Given the description of an element on the screen output the (x, y) to click on. 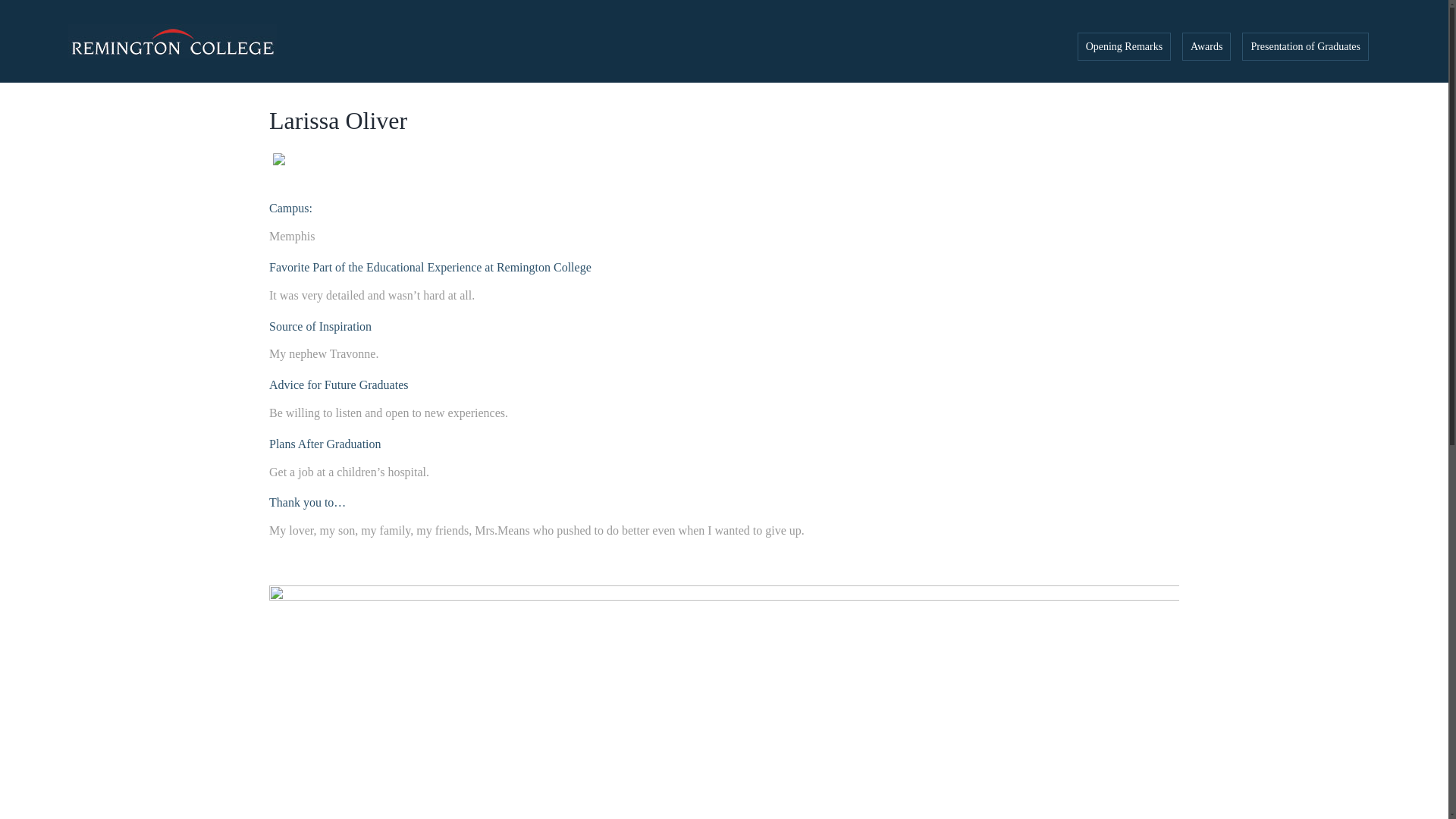
Presentation of Graduates (1304, 46)
Opening Remarks (1123, 46)
Awards (1206, 46)
